Given the description of an element on the screen output the (x, y) to click on. 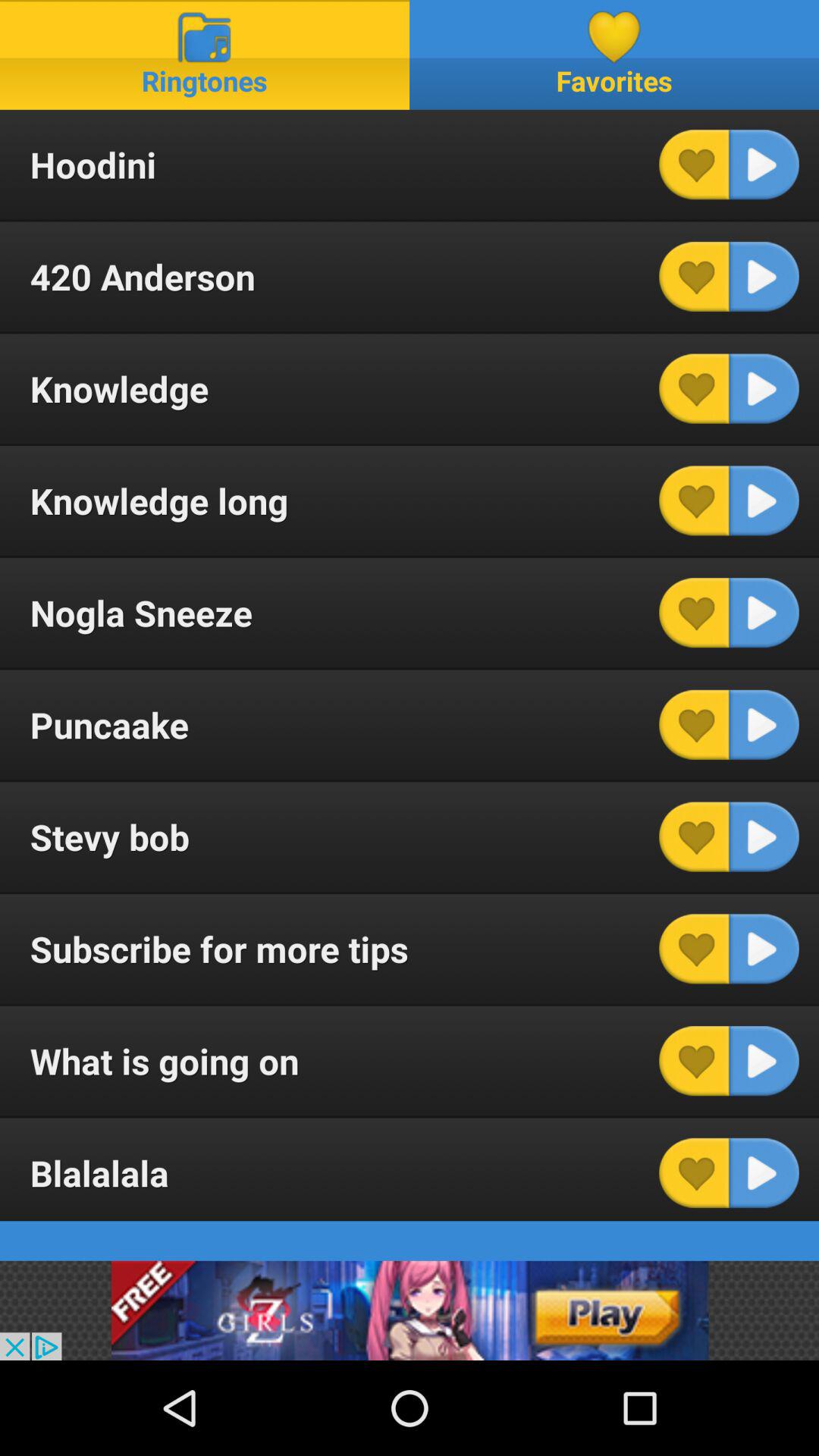
play ringtone (764, 500)
